Given the description of an element on the screen output the (x, y) to click on. 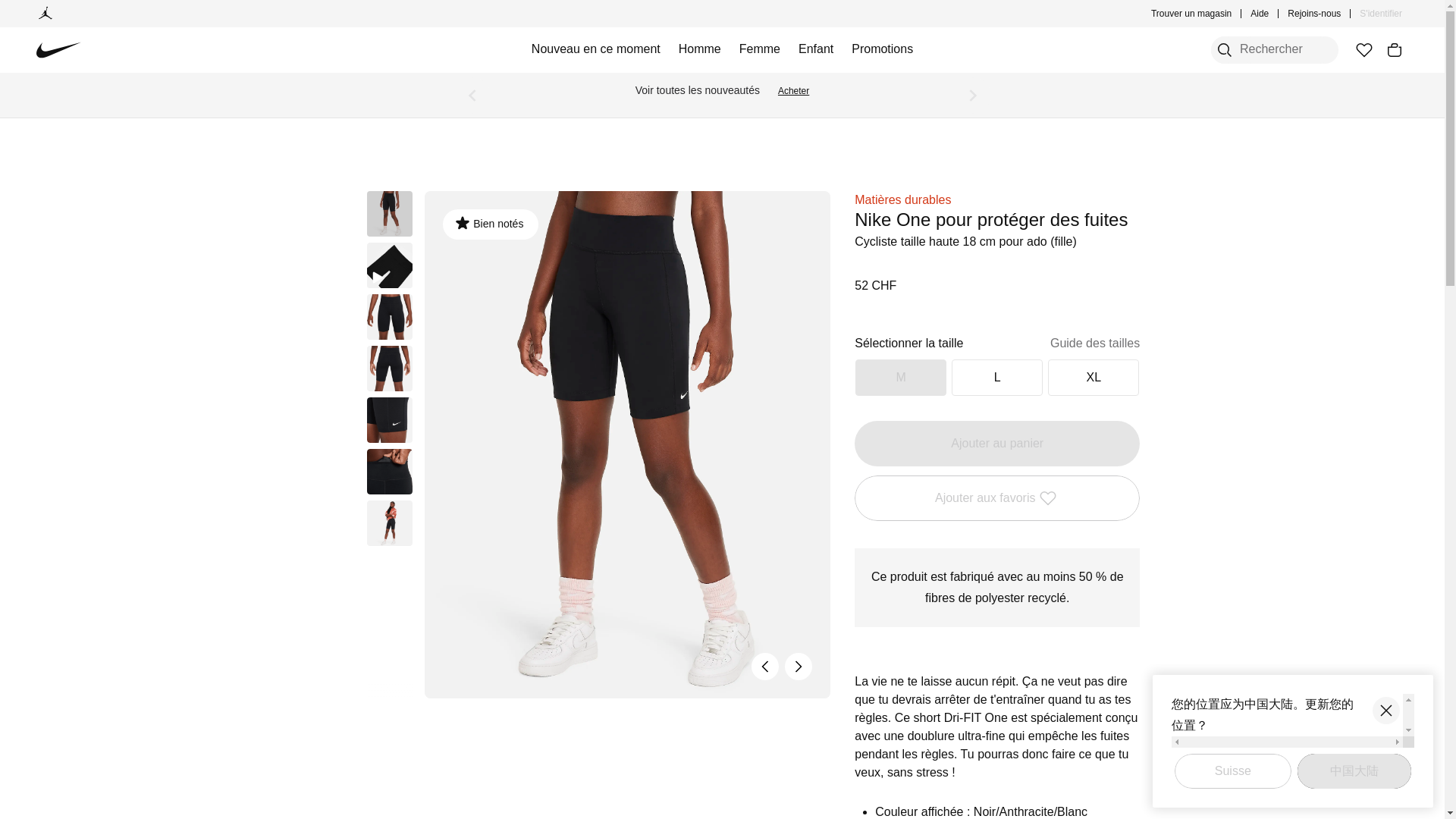
Articles du panier: 0 (1393, 49)
Rejoins-nous (1313, 13)
Trouver un magasin (1191, 13)
S'identifier (1380, 13)
Aide (1259, 13)
Nouveau en ce moment (596, 49)
Favoris (1364, 49)
